Given the description of an element on the screen output the (x, y) to click on. 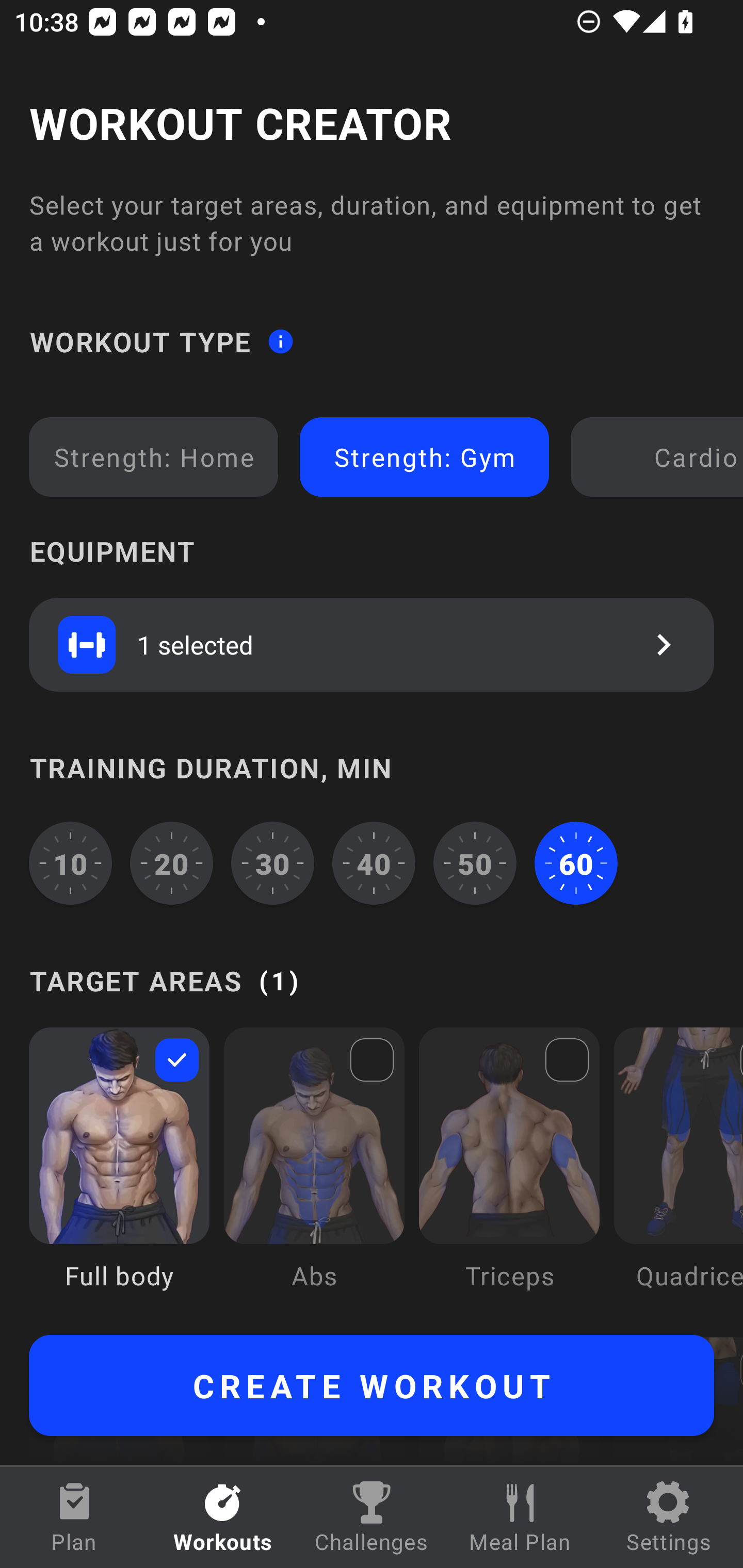
Workout type information button (280, 340)
Strength: Home (153, 457)
Cardio (660, 457)
1 selected (371, 644)
10 (70, 863)
20 (171, 863)
30 (272, 863)
40 (373, 863)
50 (474, 863)
60 (575, 863)
Abs (313, 1172)
Triceps (509, 1172)
Quadriceps (678, 1172)
CREATE WORKOUT (371, 1385)
 Plan  (74, 1517)
 Challenges  (371, 1517)
 Meal Plan  (519, 1517)
 Settings  (668, 1517)
